Given the description of an element on the screen output the (x, y) to click on. 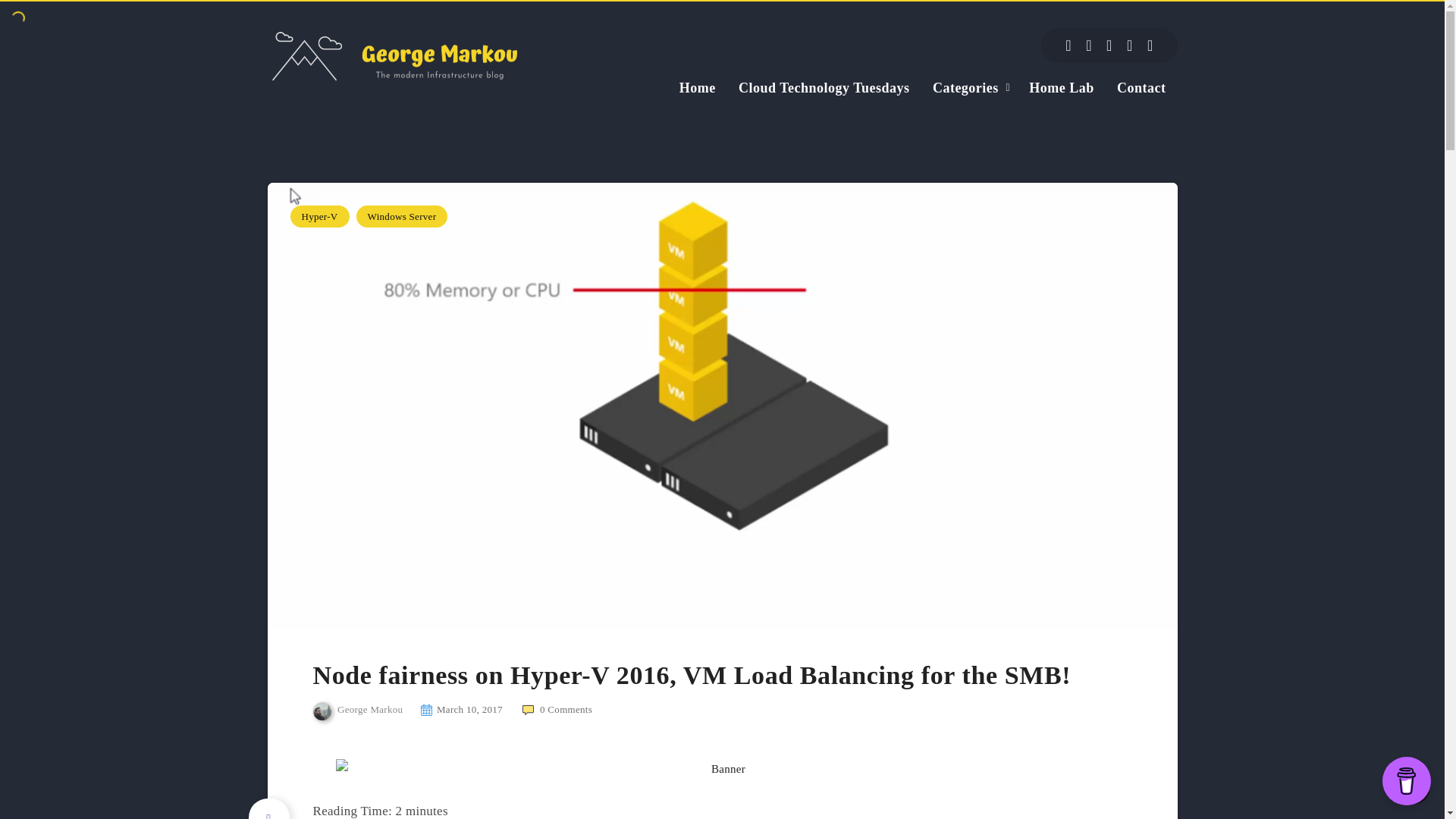
Home Lab (1061, 87)
George Markou (358, 711)
Home (697, 87)
Categories (965, 87)
0 Comments (557, 708)
Windows Server (402, 216)
George Markou (358, 711)
Cloud Technology Tuesdays (824, 87)
Go to comments (557, 708)
Contact (1141, 87)
Hyper-V (319, 216)
